Given the description of an element on the screen output the (x, y) to click on. 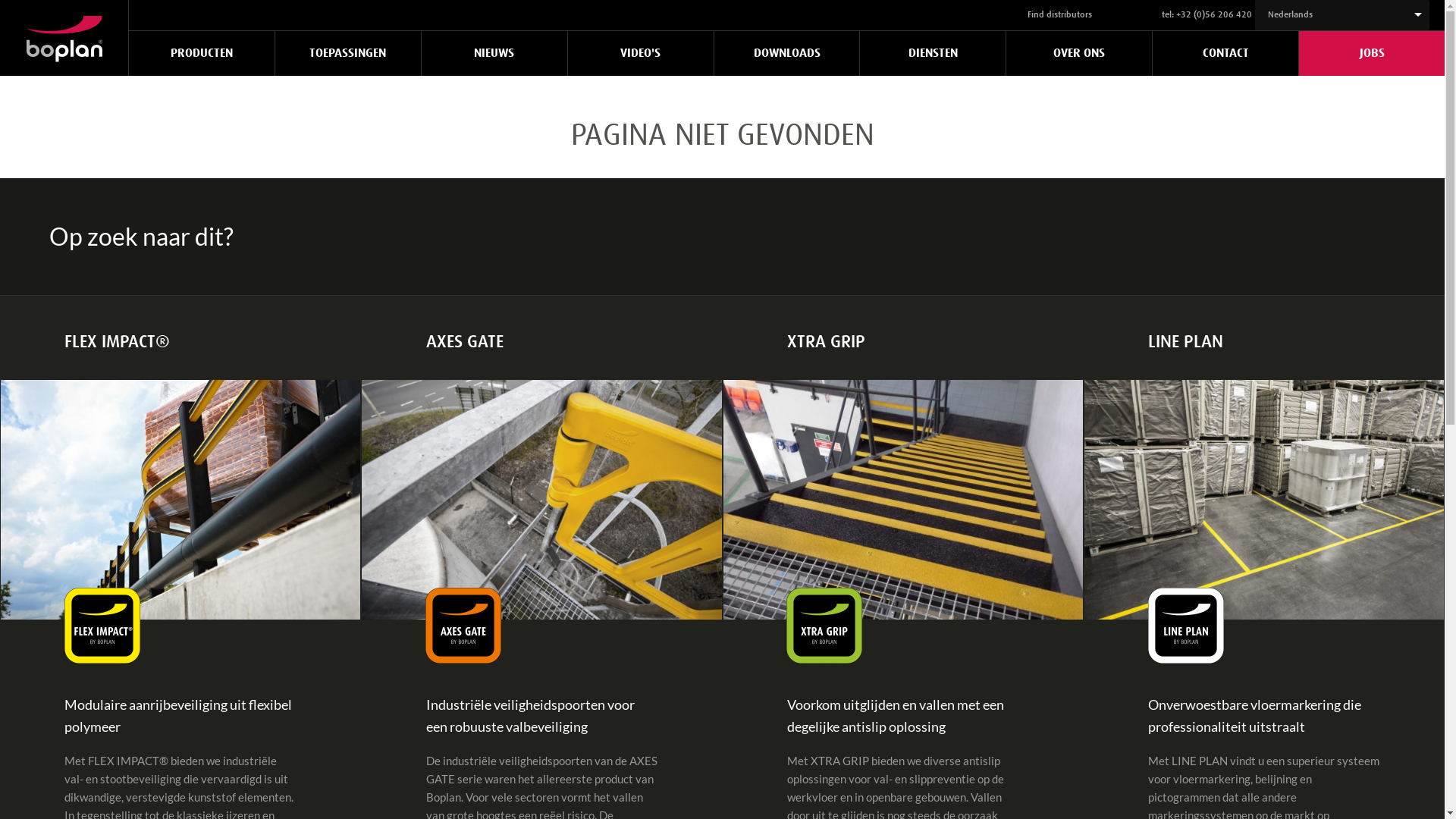
tel: +32 (0)56 206 420 Element type: text (1206, 15)
Flex Impact logo by Boplan Element type: hover (102, 625)
Boplan Flex Impact traffic barrier Element type: hover (180, 499)
XTRA GRIP Element type: text (902, 342)
Boplan Xtra Grip stairs Element type: hover (902, 499)
Xtra Grip logo by Boplan Element type: hover (824, 625)
DOWNLOADS Element type: text (786, 53)
NIEUWS Element type: text (494, 53)
OVER ONS Element type: text (1078, 53)
JOBS Element type: text (1371, 53)
Boplan Double Axes Gate Element type: hover (541, 499)
DIENSTEN Element type: text (932, 53)
CONTACT Element type: text (1225, 53)
TOEPASSINGEN Element type: text (347, 53)
Home Element type: hover (64, 45)
PRODUCTEN Element type: text (201, 53)
Line Plan logo by Boplan Element type: hover (1185, 625)
LINE PLAN Element type: text (1263, 342)
Find distributors Element type: text (1059, 15)
Axes Gate logo by Boplan Element type: hover (463, 625)
AXES GATE Element type: text (541, 342)
VIDEO'S Element type: text (640, 53)
Nederlands Element type: text (1348, 15)
Line Plan by Boplan Element type: hover (1263, 499)
